Given the description of an element on the screen output the (x, y) to click on. 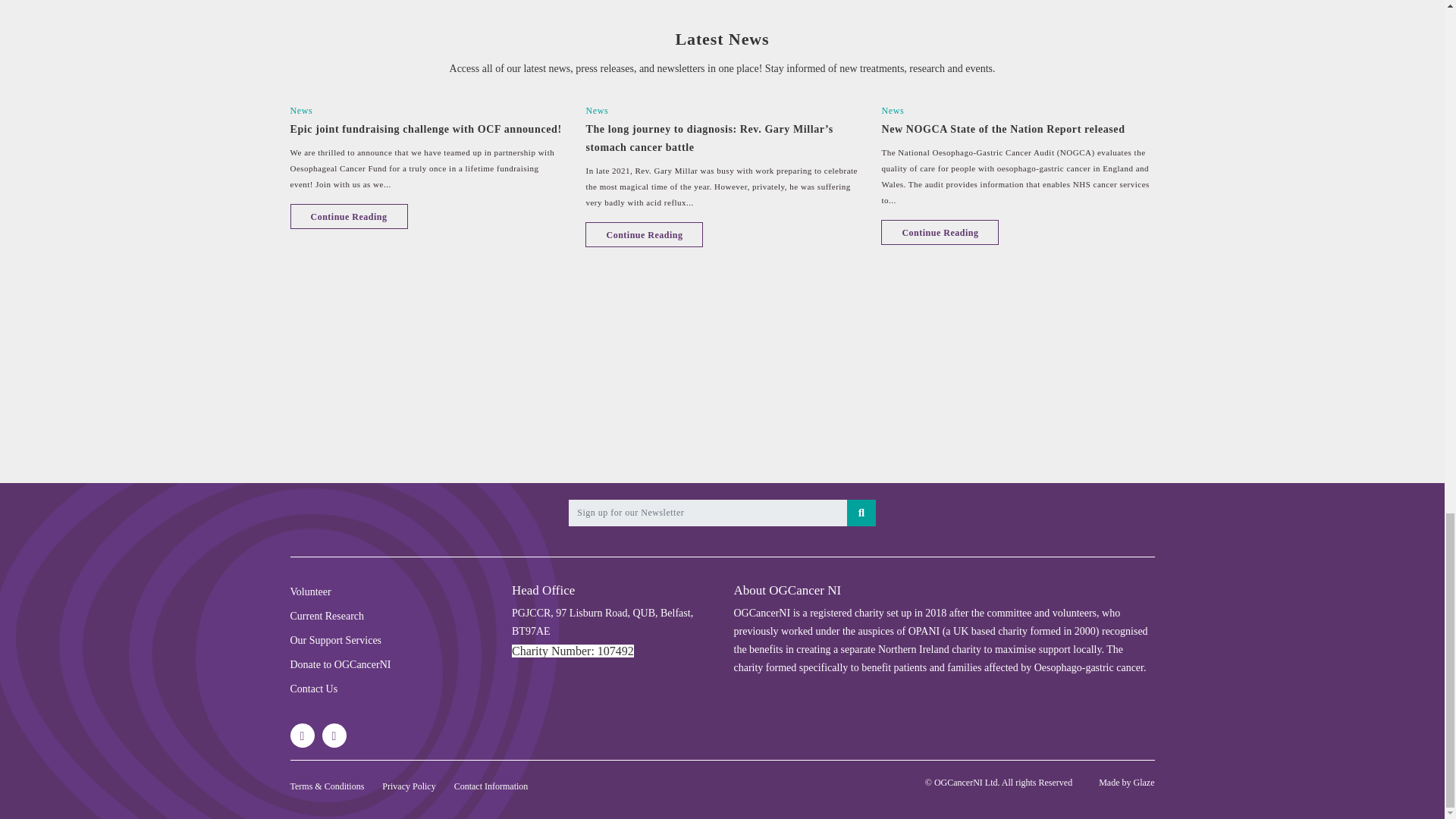
Volunteer (309, 591)
Current Research (326, 615)
Continue Reading (644, 234)
Privacy Policy (408, 786)
Continue Reading (348, 216)
Contact Us (313, 688)
Continue Reading (939, 232)
Contact Information (491, 786)
Our Support Services (335, 640)
Donate to OGCancerNI (339, 664)
Glaze (1144, 782)
